Given the description of an element on the screen output the (x, y) to click on. 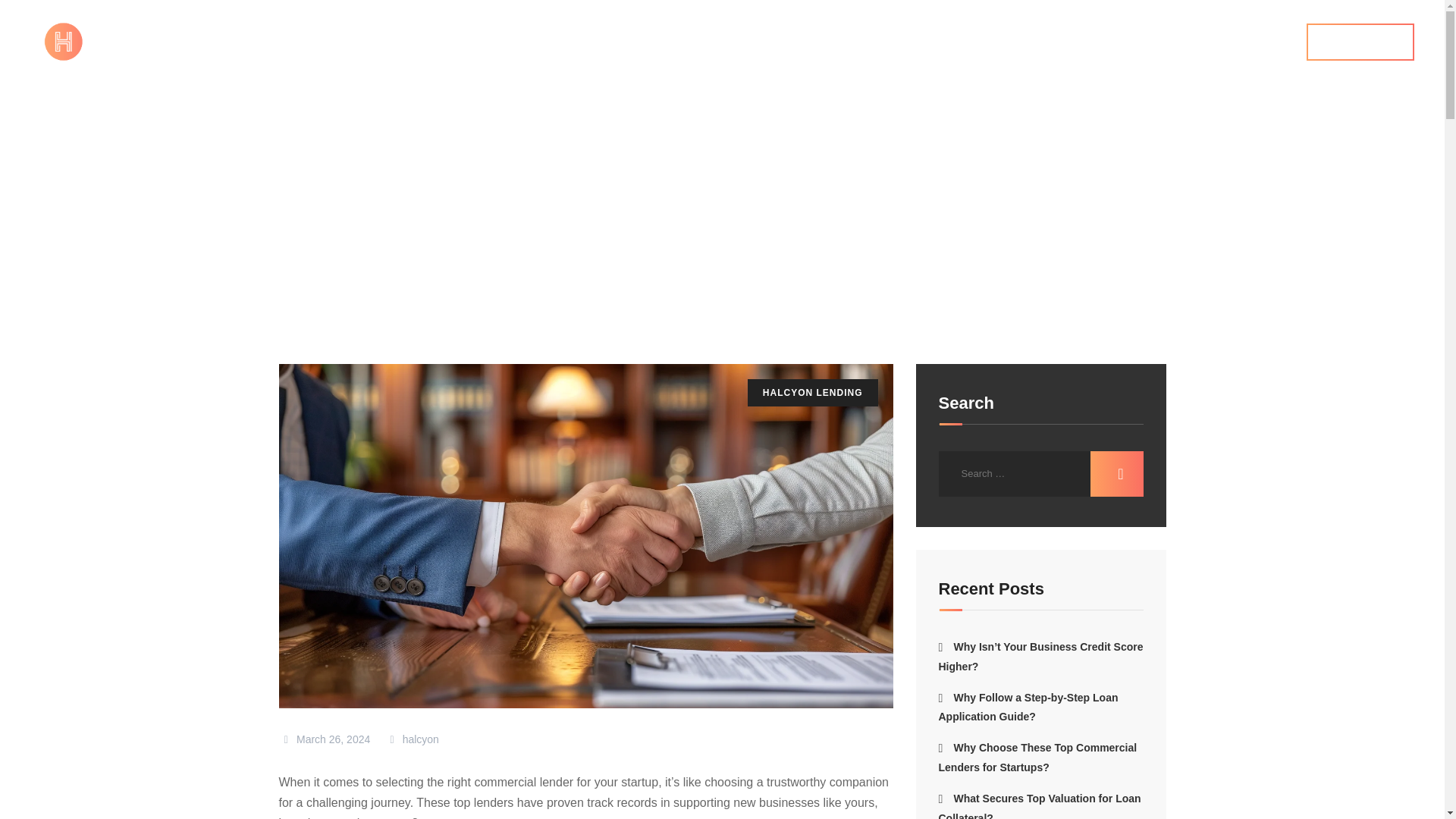
Go to Halcyon Lending. (325, 242)
Halcyon Lending (325, 242)
Blog (394, 242)
PARTNER WITH US (878, 41)
Go to the Halcyon Lending Category archives. (467, 242)
APPLY NOW (1359, 41)
Posted by halcyon (411, 739)
FINANCING PRODUCTS (687, 41)
Halcyon Lending (467, 242)
March 26, 2024 (325, 739)
HALCYON LENDING (812, 392)
Halcyon Lending (117, 41)
Go to Blog. (394, 242)
halcyon (411, 739)
